Given the description of an element on the screen output the (x, y) to click on. 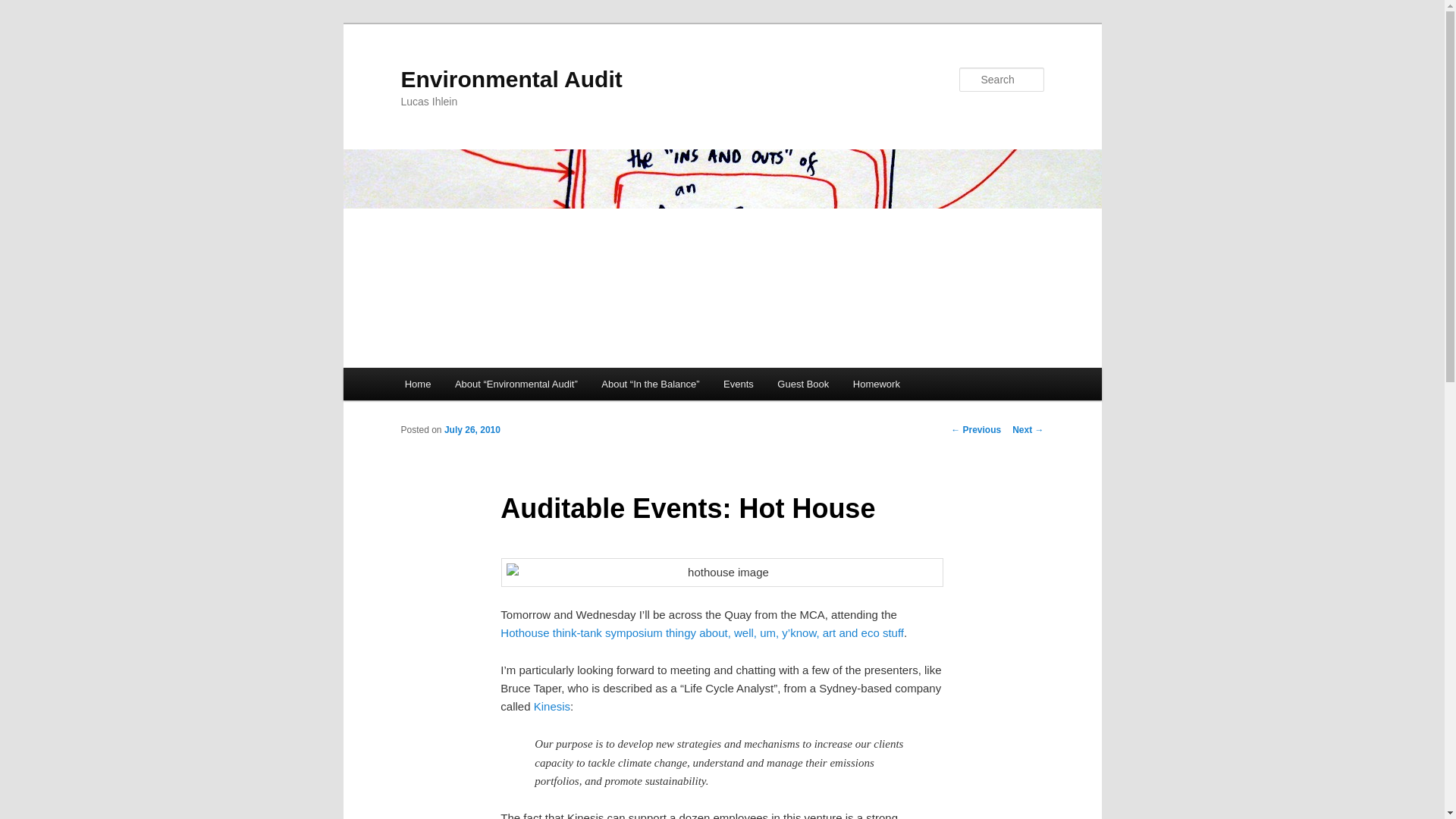
Skip to primary content (472, 386)
Homework (876, 383)
July 26, 2010 (472, 429)
Home (417, 383)
Environmental Audit (510, 78)
Skip to secondary content (479, 386)
10:36 am (472, 429)
Skip to secondary content (479, 386)
Guest Book (803, 383)
Skip to primary content (472, 386)
Search (24, 8)
Environmental Audit (510, 78)
Events (738, 383)
Kinesis (552, 706)
